Given the description of an element on the screen output the (x, y) to click on. 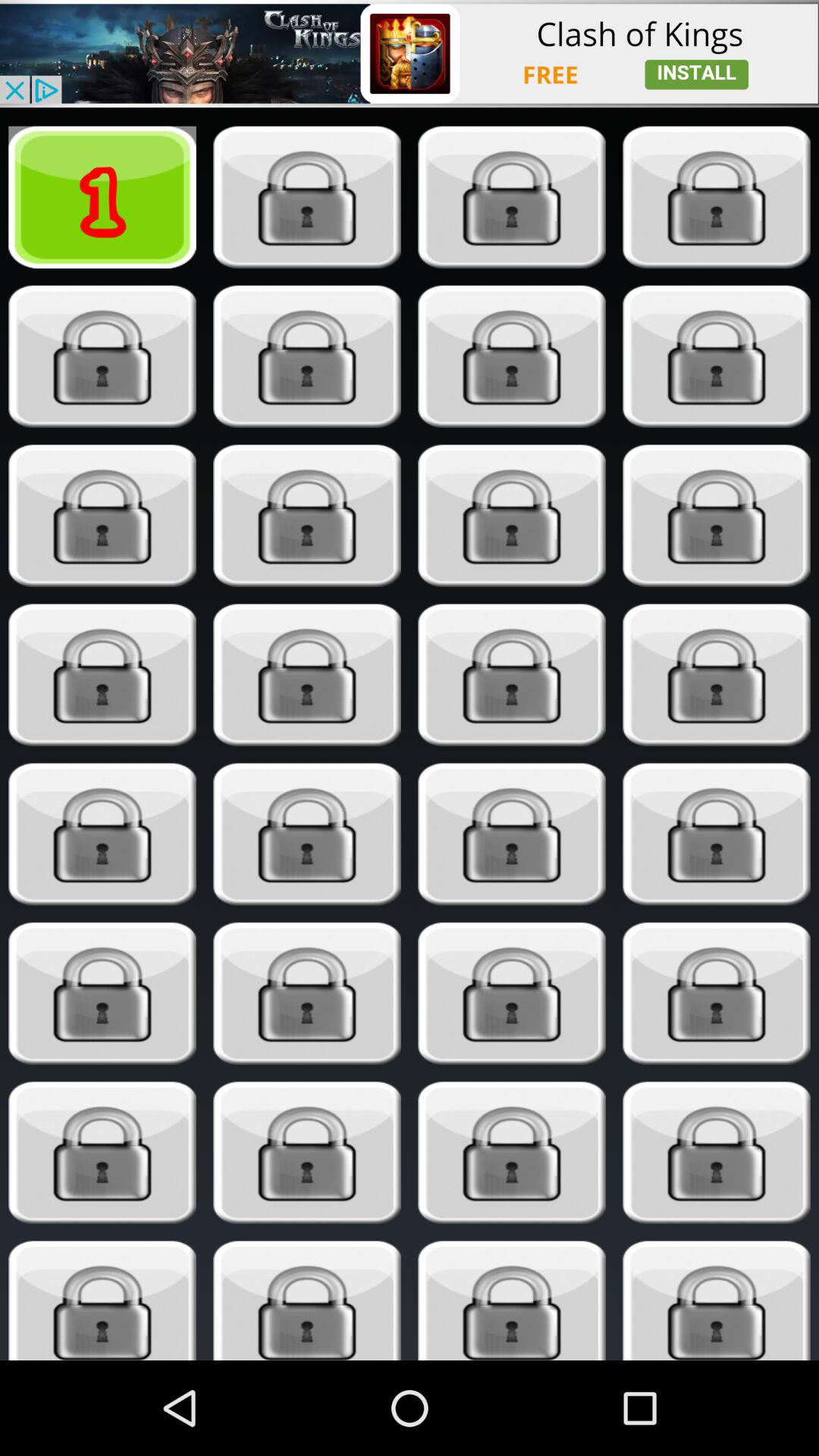
click to unlock (511, 197)
